Given the description of an element on the screen output the (x, y) to click on. 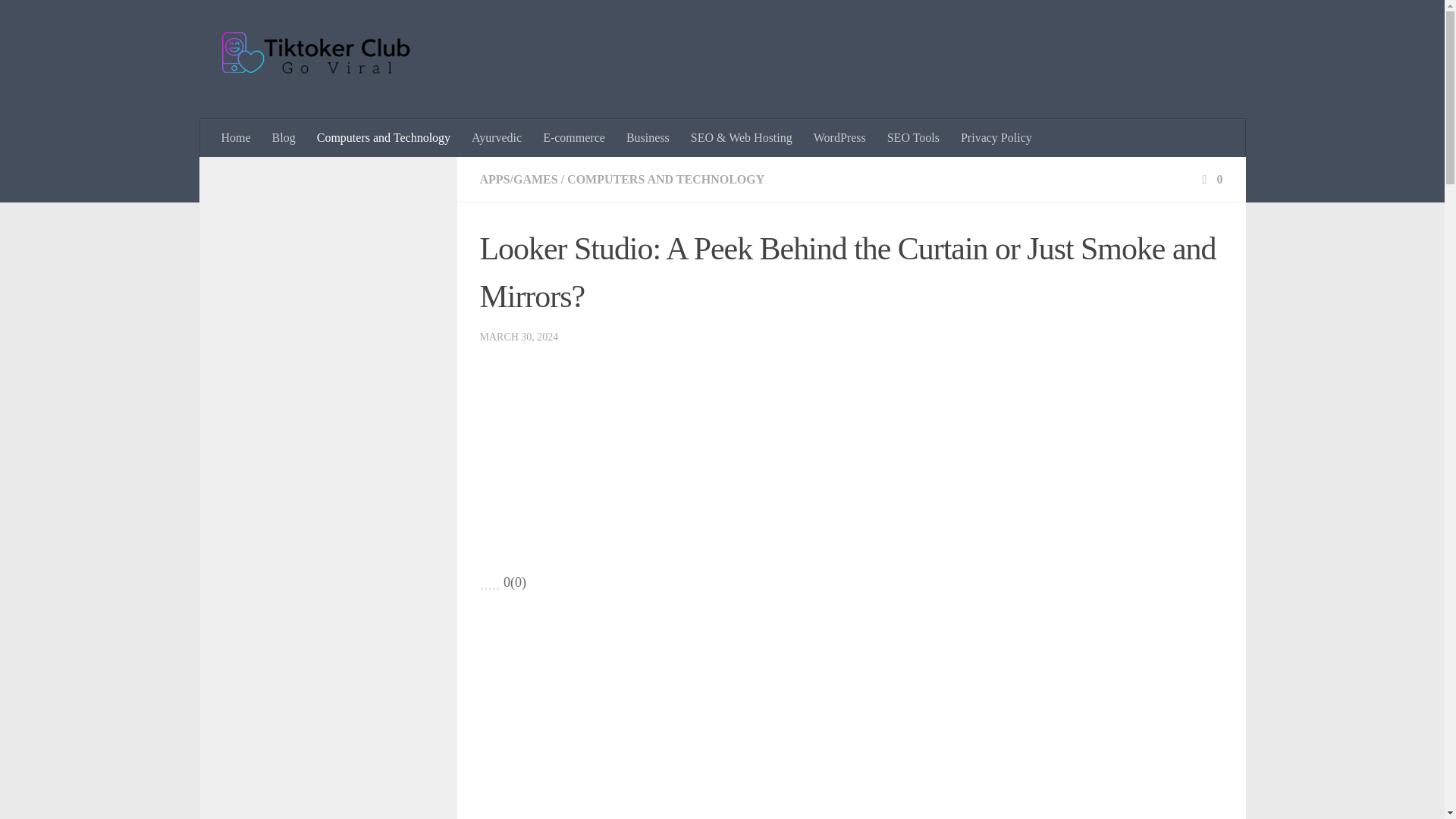
Computers and Technology (383, 137)
Home (236, 137)
E-commerce (573, 137)
SEO Tools (913, 137)
Business (647, 137)
COMPUTERS AND TECHNOLOGY (665, 178)
Ayurvedic (496, 137)
Privacy Policy (996, 137)
0 (1210, 178)
